Given the description of an element on the screen output the (x, y) to click on. 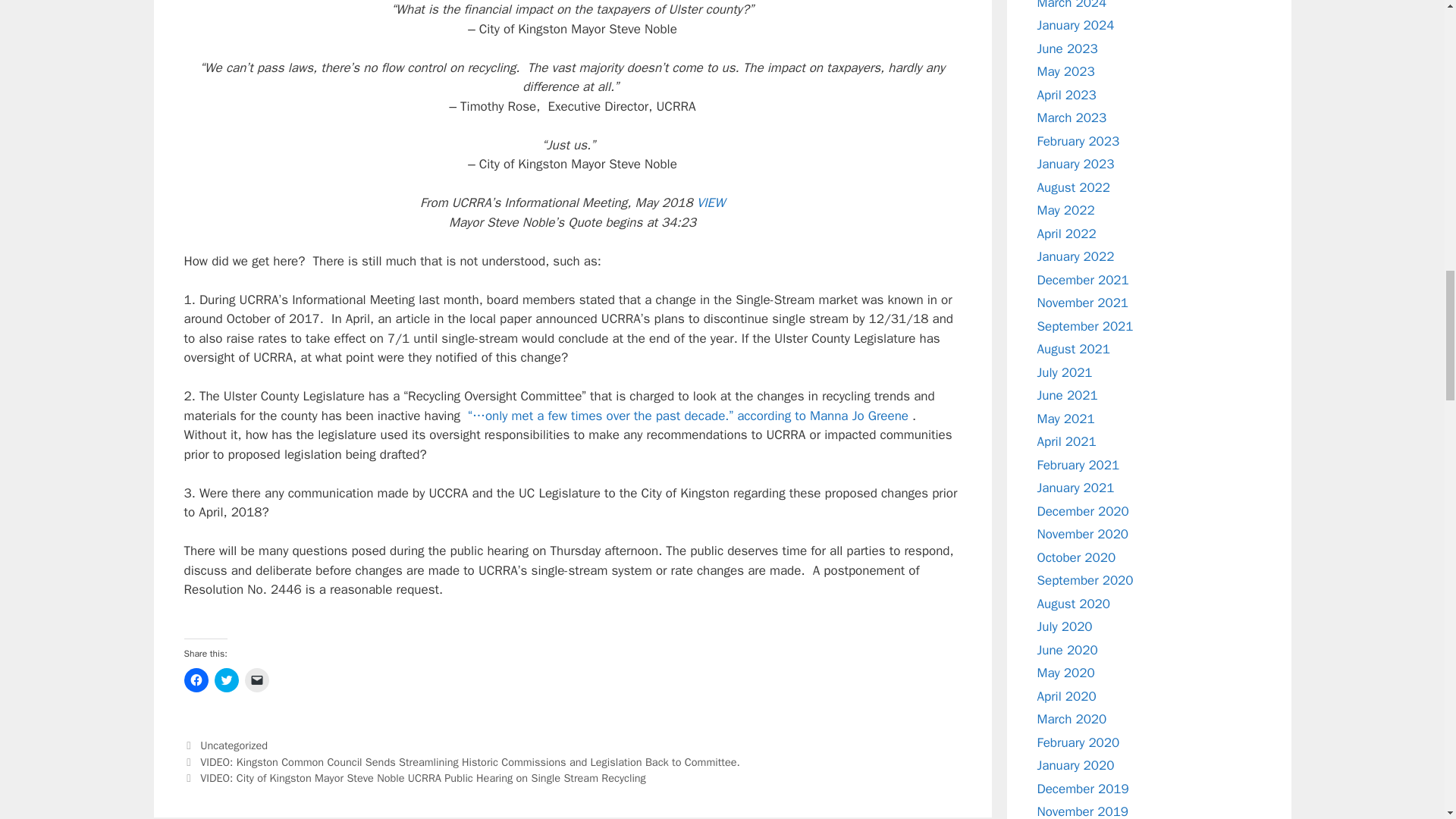
Click to share on Facebook (195, 680)
Click to share on Twitter (226, 680)
Click to email a link to a friend (255, 680)
